Given the description of an element on the screen output the (x, y) to click on. 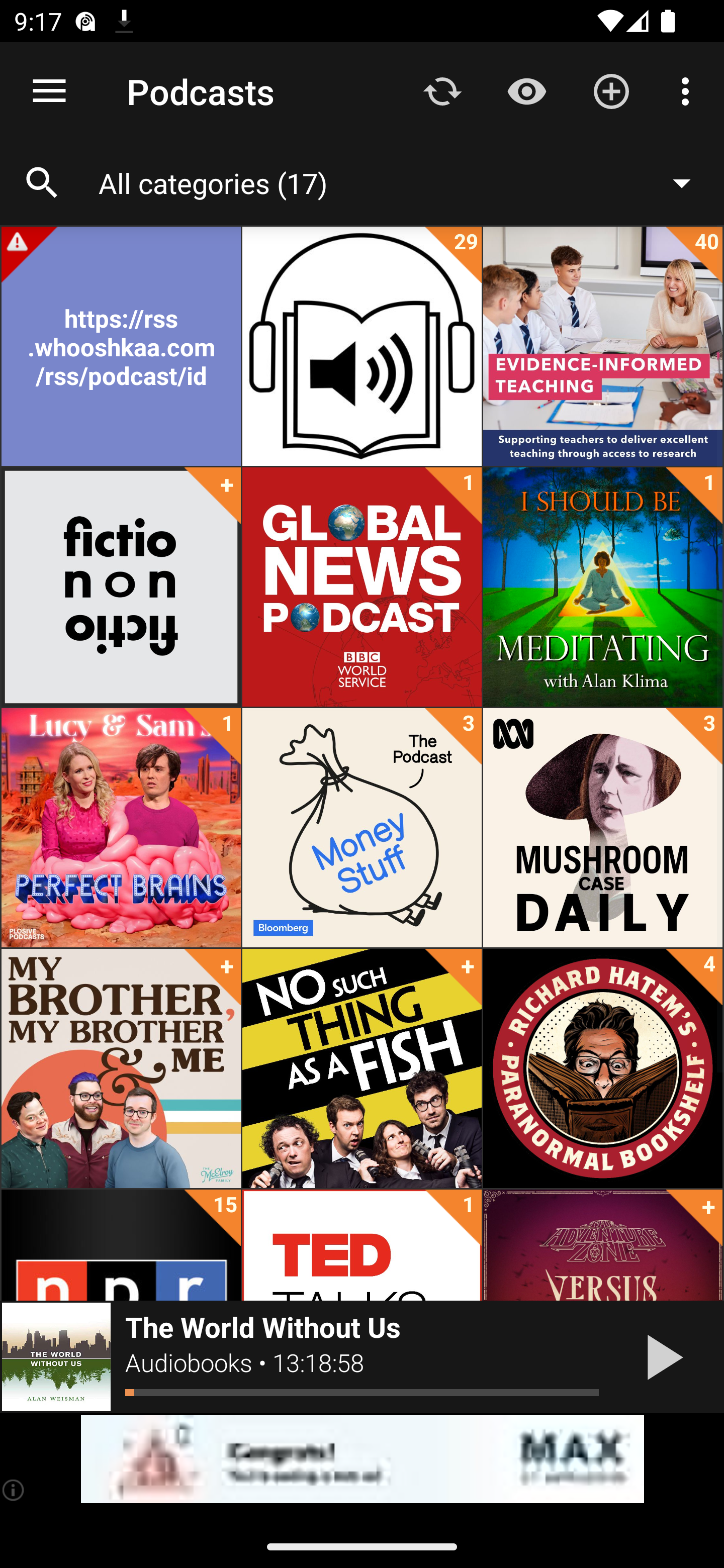
Open navigation sidebar (49, 91)
Update (442, 90)
Show / Hide played content (526, 90)
Add new Podcast (611, 90)
More options (688, 90)
Search (42, 183)
All categories (17) (404, 182)
https://rss.whooshkaa.com/rss/podcast/id/5884 (121, 346)
Audiobooks 29 (361, 346)
fiction/non/fiction + (121, 587)
Global News Podcast 1 (361, 587)
Lucy & Sam's Perfect Brains 1 (121, 827)
Money Stuff: The Podcast 3 (361, 827)
Mushroom Case Daily 3 (602, 827)
My Brother, My Brother And Me + (121, 1068)
No Such Thing As A Fish + (361, 1068)
Richard Hatem's Paranormal Bookshelf 4 (602, 1068)
Play / Pause (660, 1356)
app-monetization (362, 1459)
(i) (14, 1489)
